Given the description of an element on the screen output the (x, y) to click on. 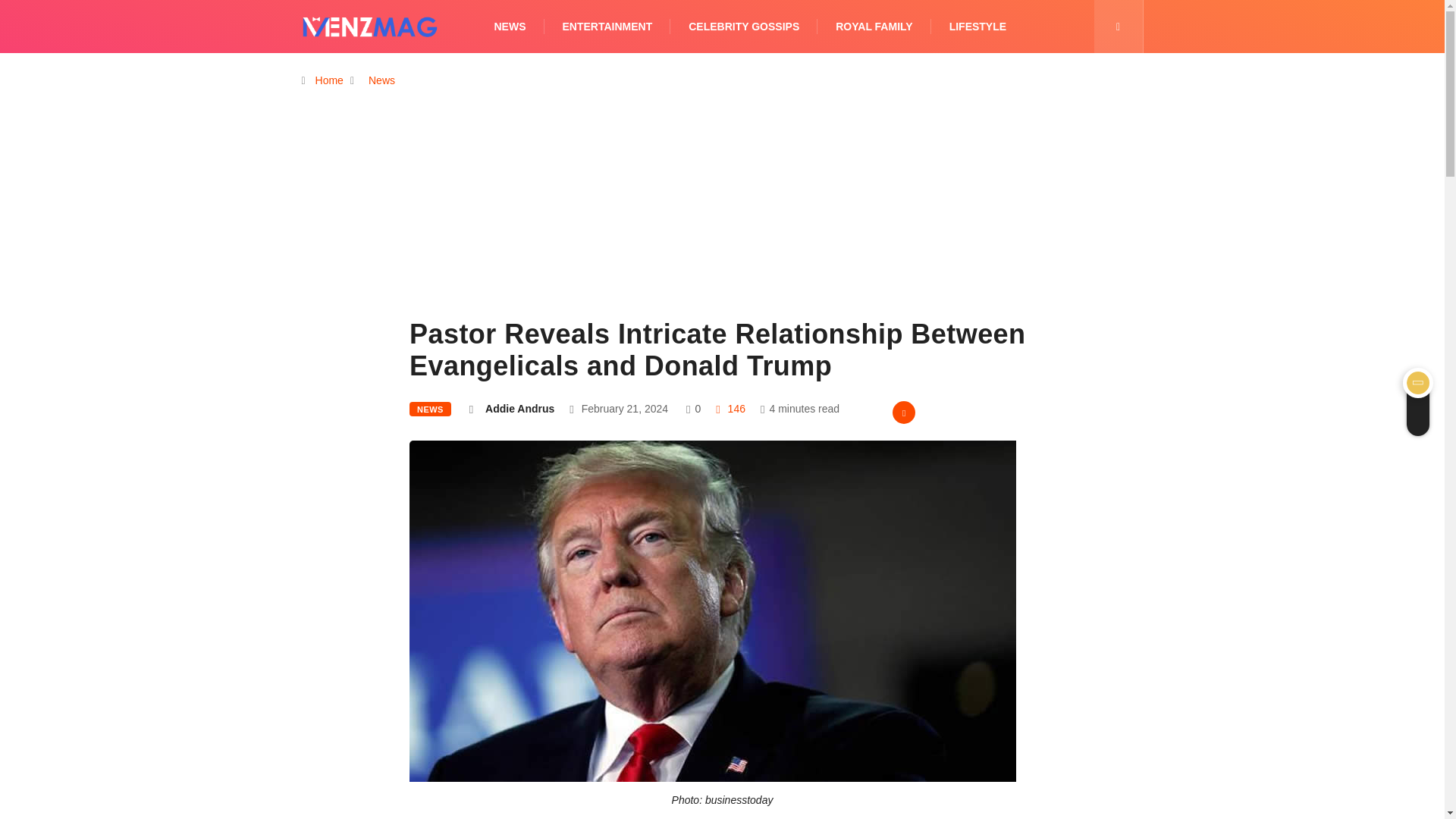
Addie Andrus (519, 408)
LIFESTYLE (977, 26)
News (381, 80)
ENTERTAINMENT (607, 26)
Advertisement (722, 228)
ROYAL FAMILY (873, 26)
Home (329, 80)
popup modal for search (1117, 26)
NEWS (430, 409)
CELEBRITY GOSSIPS (743, 26)
